Given the description of an element on the screen output the (x, y) to click on. 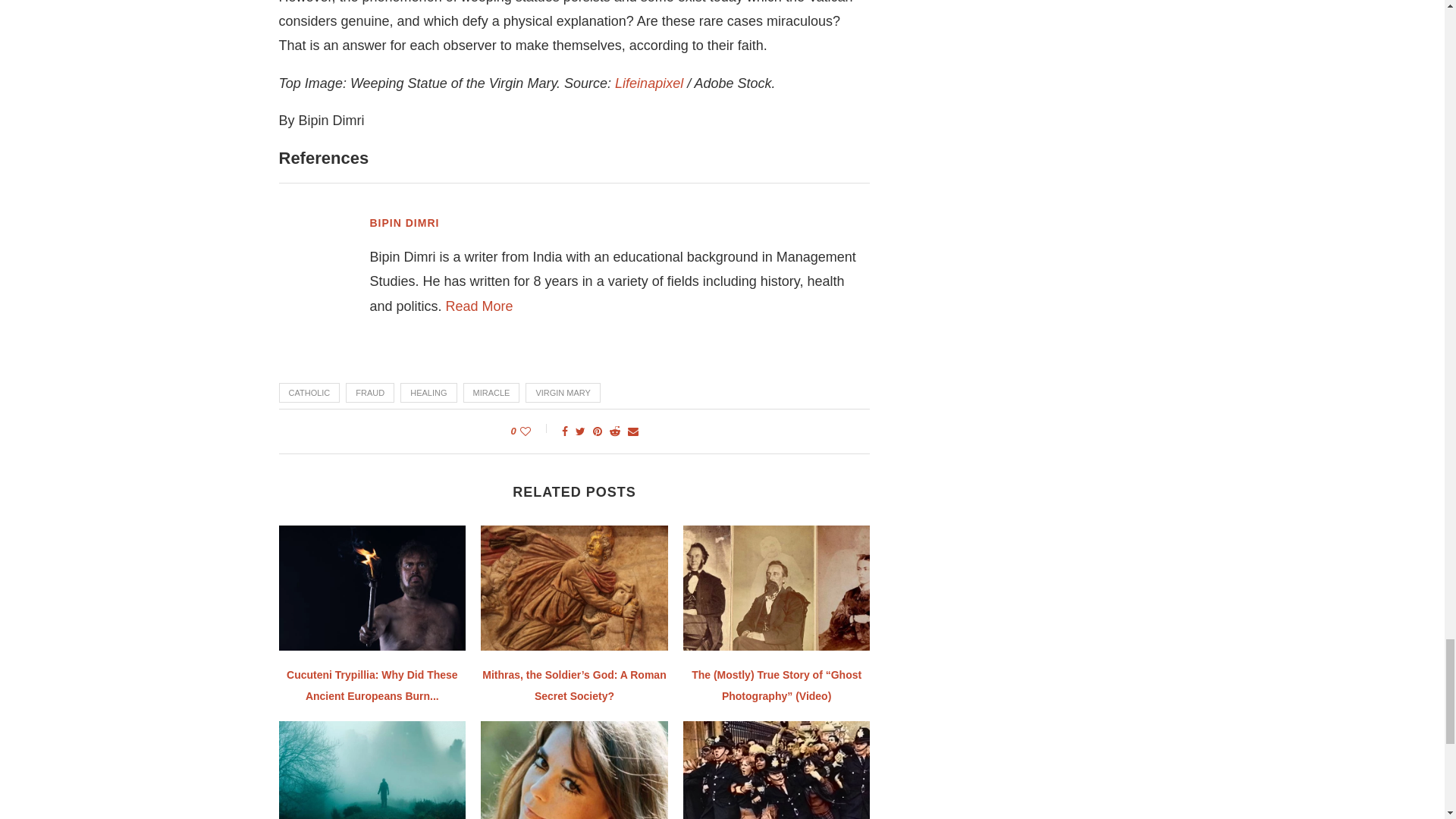
Posts by Bipin Dimri (404, 222)
Bizarre Cases of Mass Hysteria in History (776, 770)
Like (535, 431)
Bipin Dimri (479, 305)
Mysterious Death of Natalie Wood (574, 770)
